Given the description of an element on the screen output the (x, y) to click on. 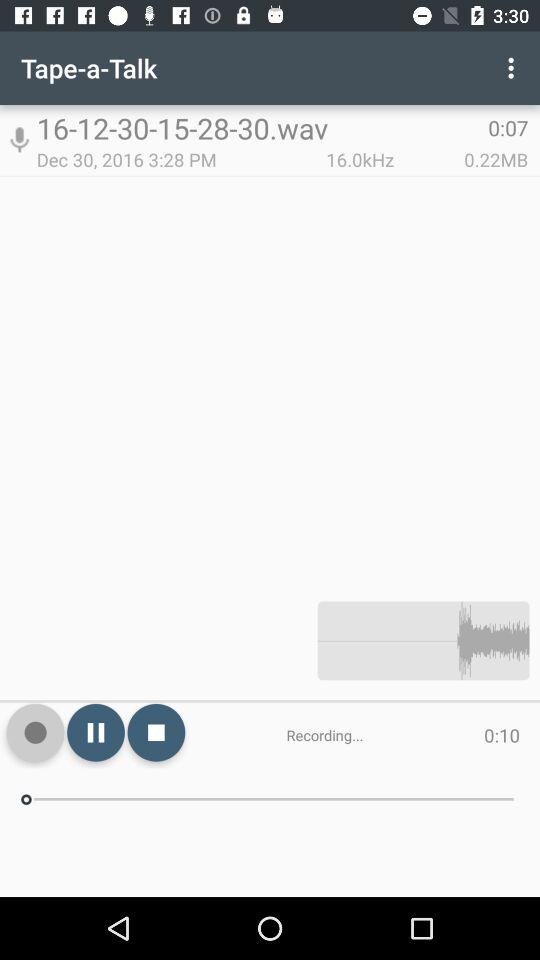
press item to the left of the recording... item (156, 732)
